Given the description of an element on the screen output the (x, y) to click on. 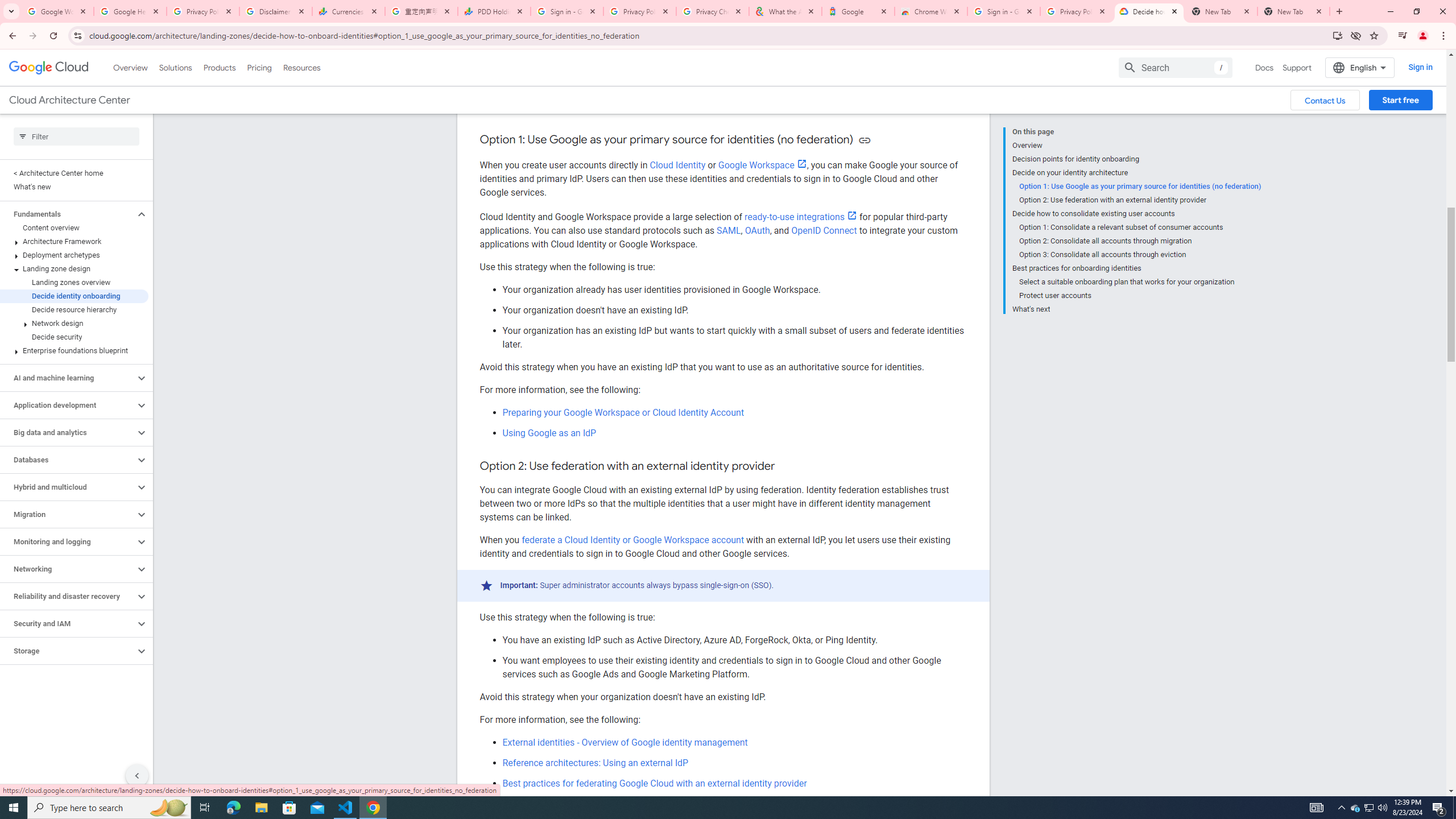
English (1359, 67)
Cloud Architecture Center (68, 100)
Preparing your Google Workspace or Cloud Identity Account (623, 412)
Support (1296, 67)
Cloud Identity (677, 164)
Migration (67, 514)
Option 2: Use federation with an external identity provider (1139, 200)
Big data and analytics (67, 432)
